Given the description of an element on the screen output the (x, y) to click on. 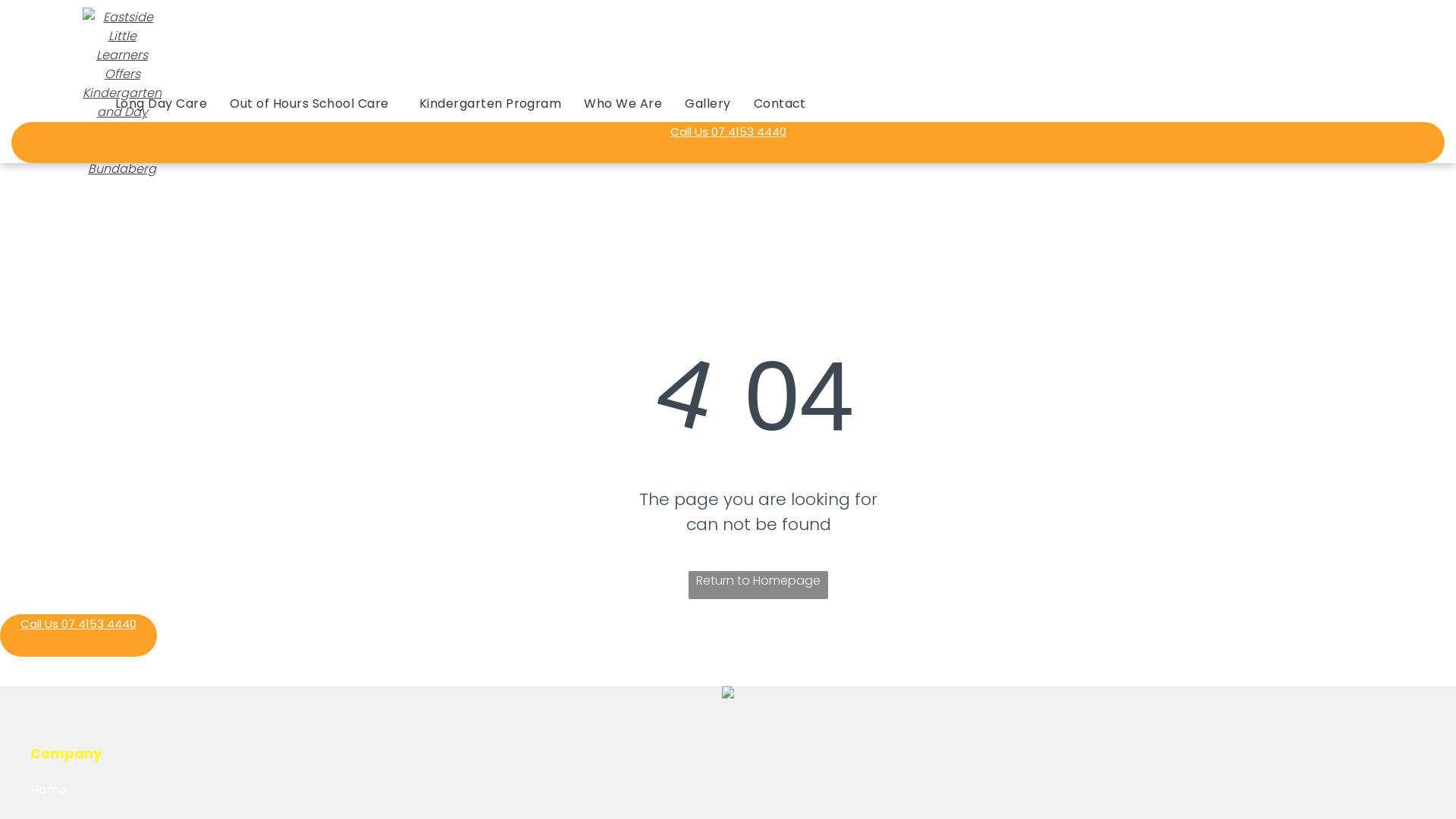
Out of Hours School Care Element type: text (312, 103)
Kindergarten Program Element type: text (490, 103)
Home Element type: text (137, 789)
Call Us 07 4153 4440 Element type: text (727, 142)
Long Day Care Element type: text (160, 103)
Who We Are Element type: text (622, 103)
Contact Element type: text (779, 103)
Call Us 07 4153 4440 Element type: text (78, 635)
Gallery Element type: text (707, 103)
Return to Homepage Element type: text (758, 585)
